Given the description of an element on the screen output the (x, y) to click on. 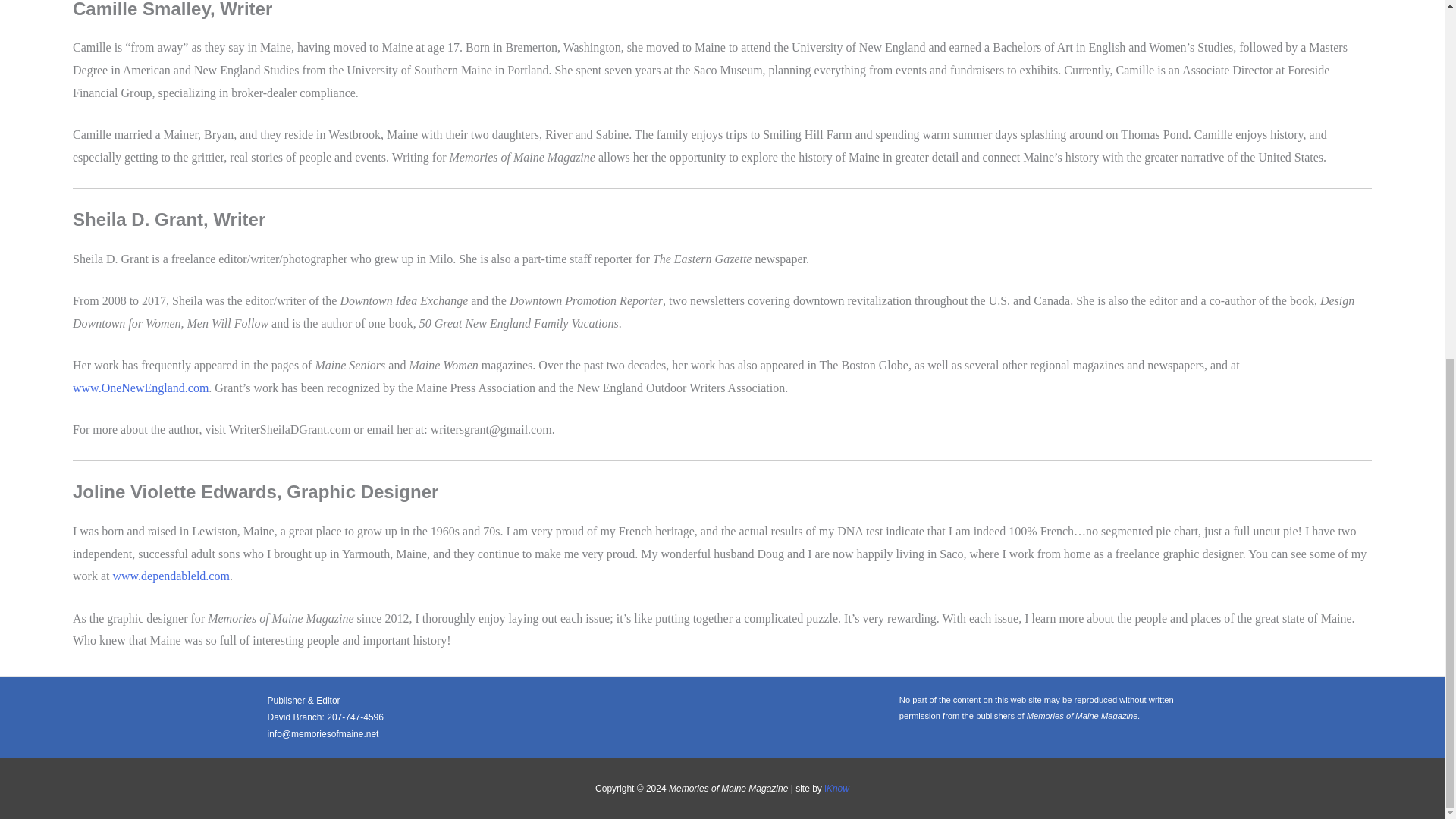
iKnow (836, 787)
www.OneNewEngland.com (140, 387)
www.dependableld.com (168, 575)
